Given the description of an element on the screen output the (x, y) to click on. 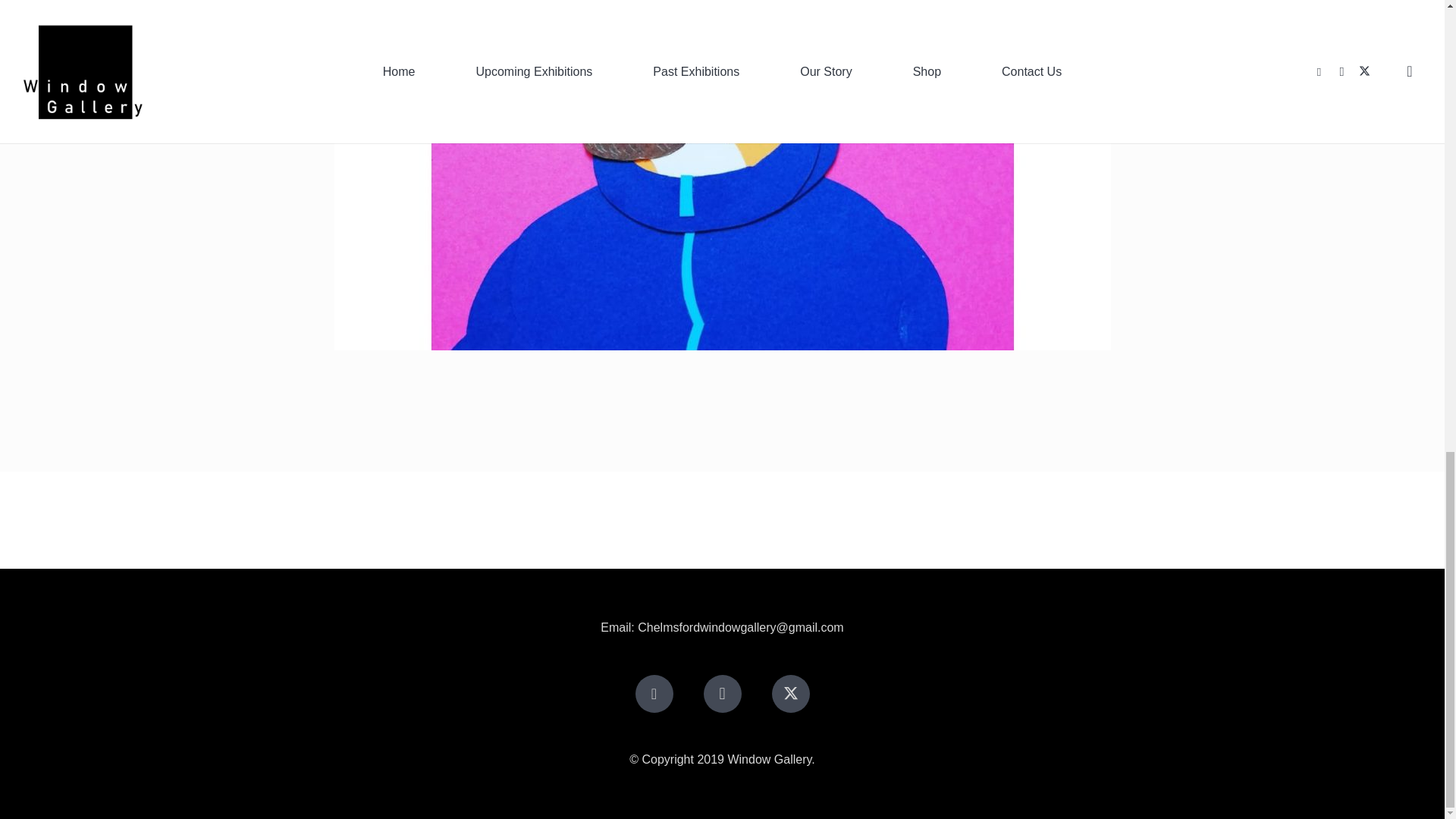
Twitter (790, 693)
Instagram (722, 693)
Facebook (653, 693)
